Given the description of an element on the screen output the (x, y) to click on. 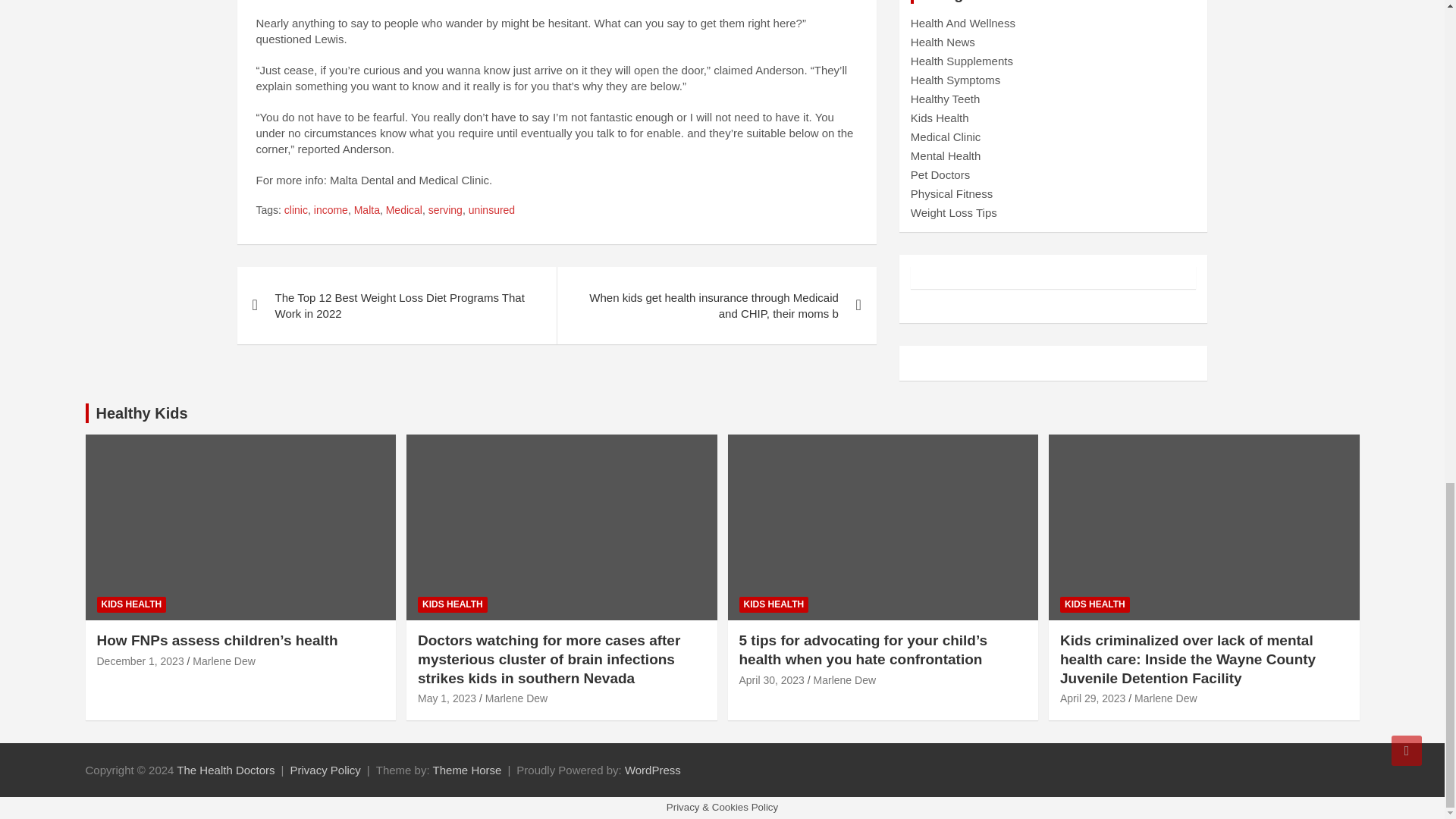
serving (445, 210)
Malta (366, 210)
The Top 12 Best Weight Loss Diet Programs That Work in 2022 (395, 304)
Theme Horse (467, 769)
WordPress (652, 769)
The Health Doctors (225, 769)
Medical (403, 210)
uninsured (491, 210)
income (330, 210)
clinic (295, 210)
